Given the description of an element on the screen output the (x, y) to click on. 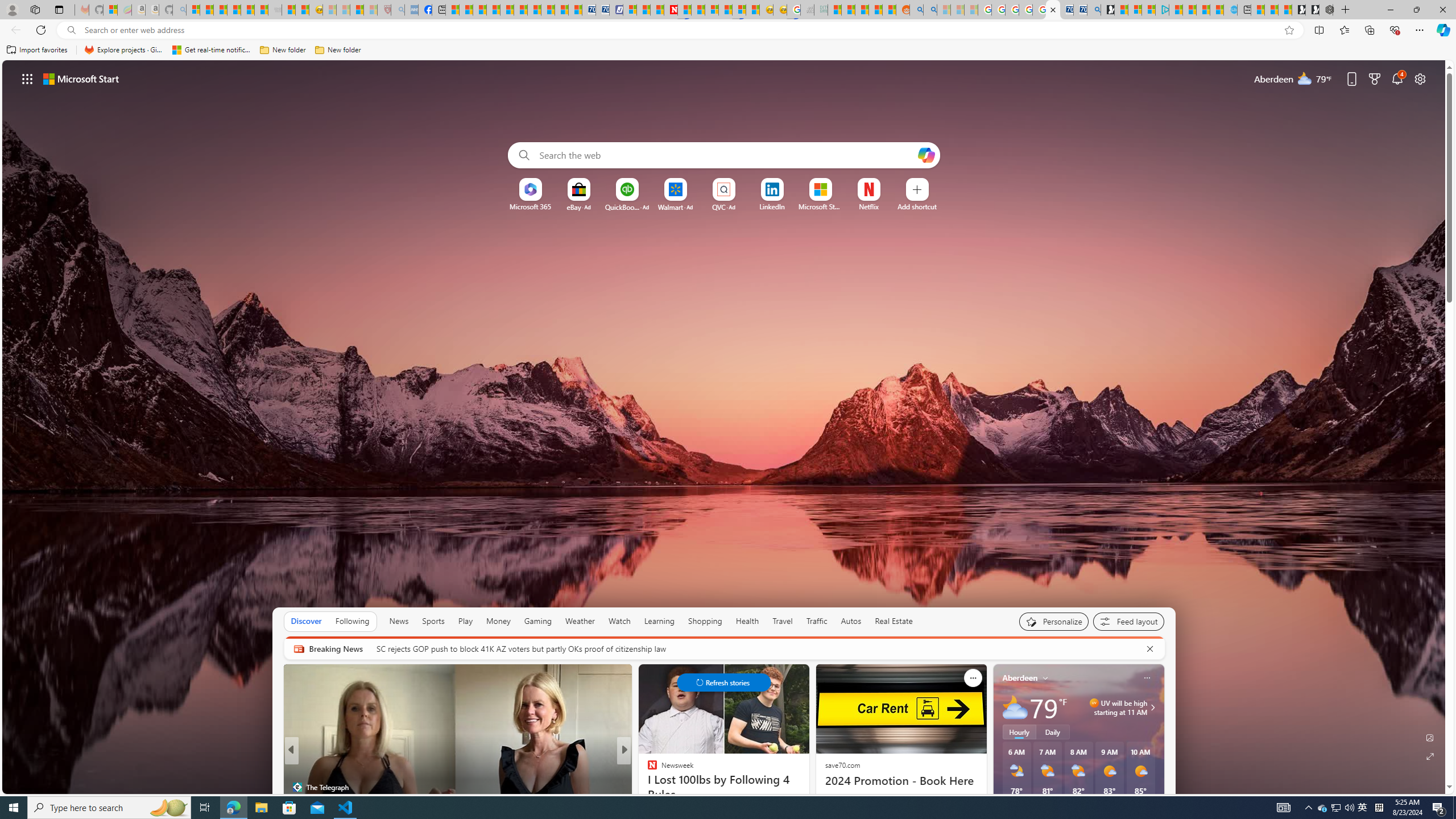
14 Common Myths Debunked By Scientific Facts (697, 9)
News (398, 621)
Watch (619, 621)
Watch (619, 621)
Feed settings (1128, 621)
Daily (1052, 731)
Play (465, 621)
